Given the description of an element on the screen output the (x, y) to click on. 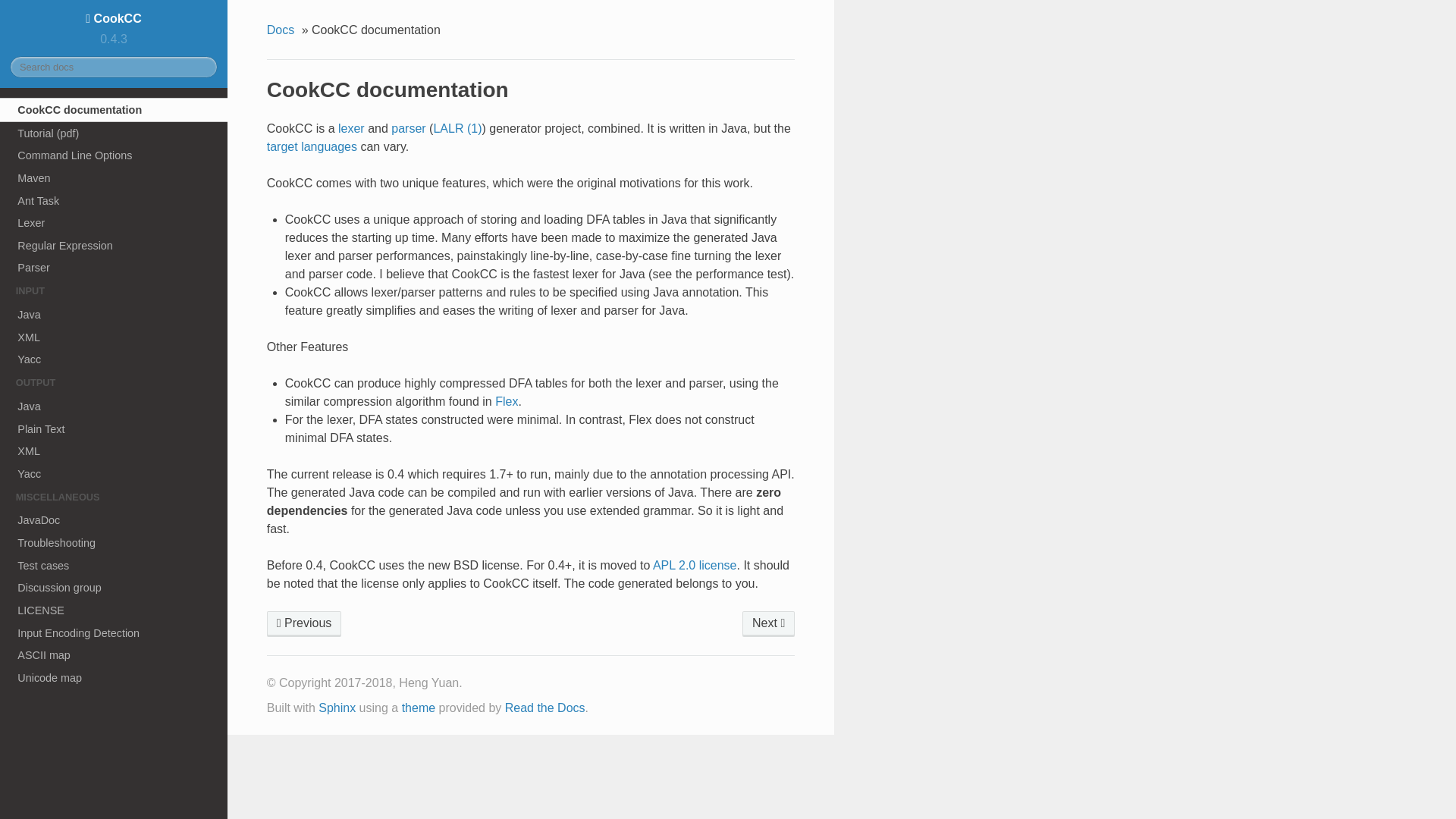
Lexer (113, 222)
APL 2.0 license (694, 564)
Plain Text (113, 428)
XML (113, 450)
Yacc (113, 359)
theme (418, 707)
parser (408, 128)
CookCC documentation (113, 109)
Java (113, 405)
Discussion group (113, 587)
